Given the description of an element on the screen output the (x, y) to click on. 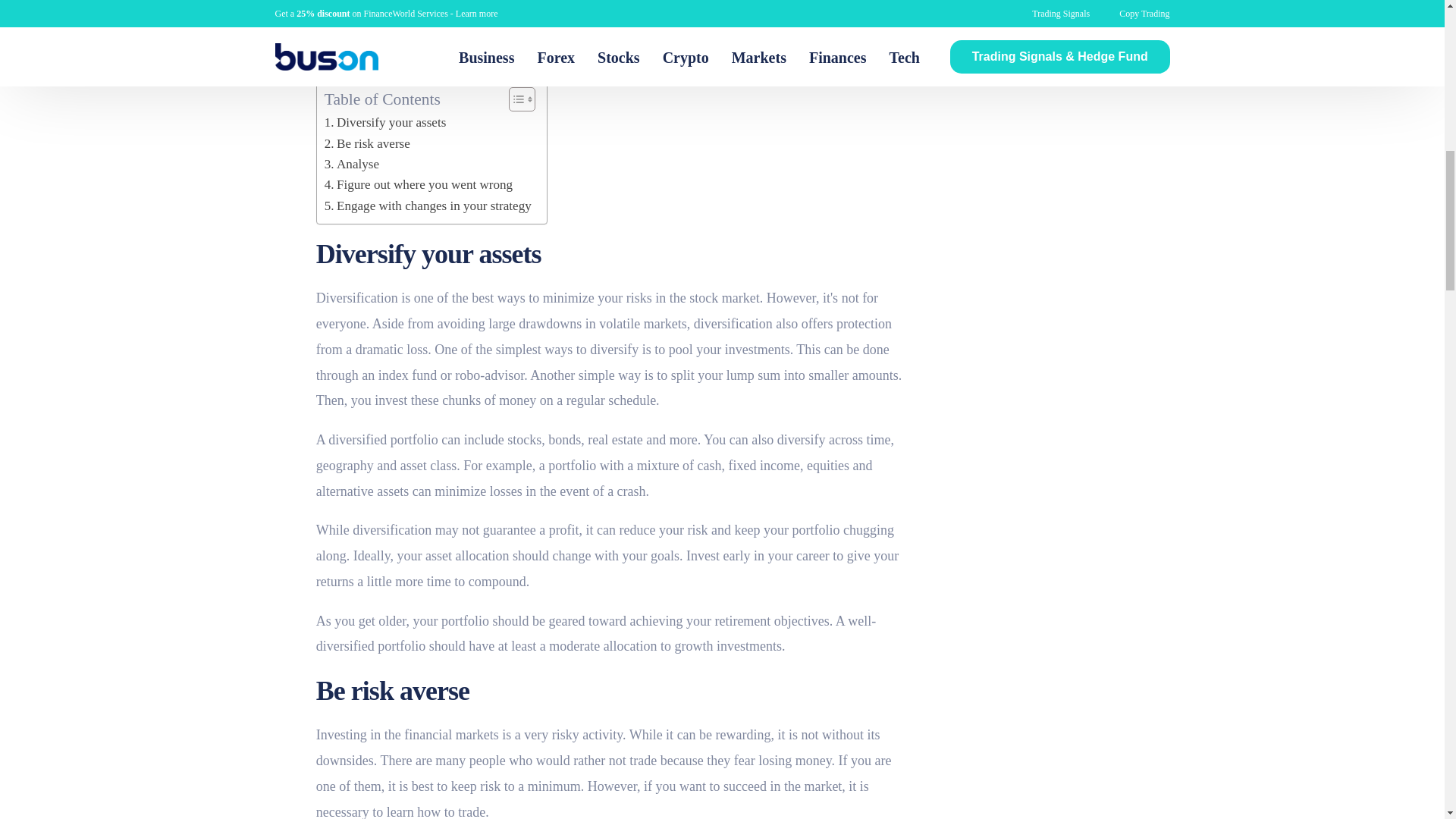
Posts tagged with markets (665, 323)
Analyse (351, 163)
Figure out where you went wrong (418, 184)
Engage with changes in your strategy (427, 205)
Be risk averse (367, 143)
Be risk averse (367, 143)
Engage with changes in your strategy (427, 205)
Posts tagged with stocks (523, 439)
real estate (615, 439)
Analyse (351, 163)
Figure out where you went wrong (418, 184)
Diversify your assets (385, 122)
Diversify your assets (385, 122)
markets (665, 323)
stocks (523, 439)
